Given the description of an element on the screen output the (x, y) to click on. 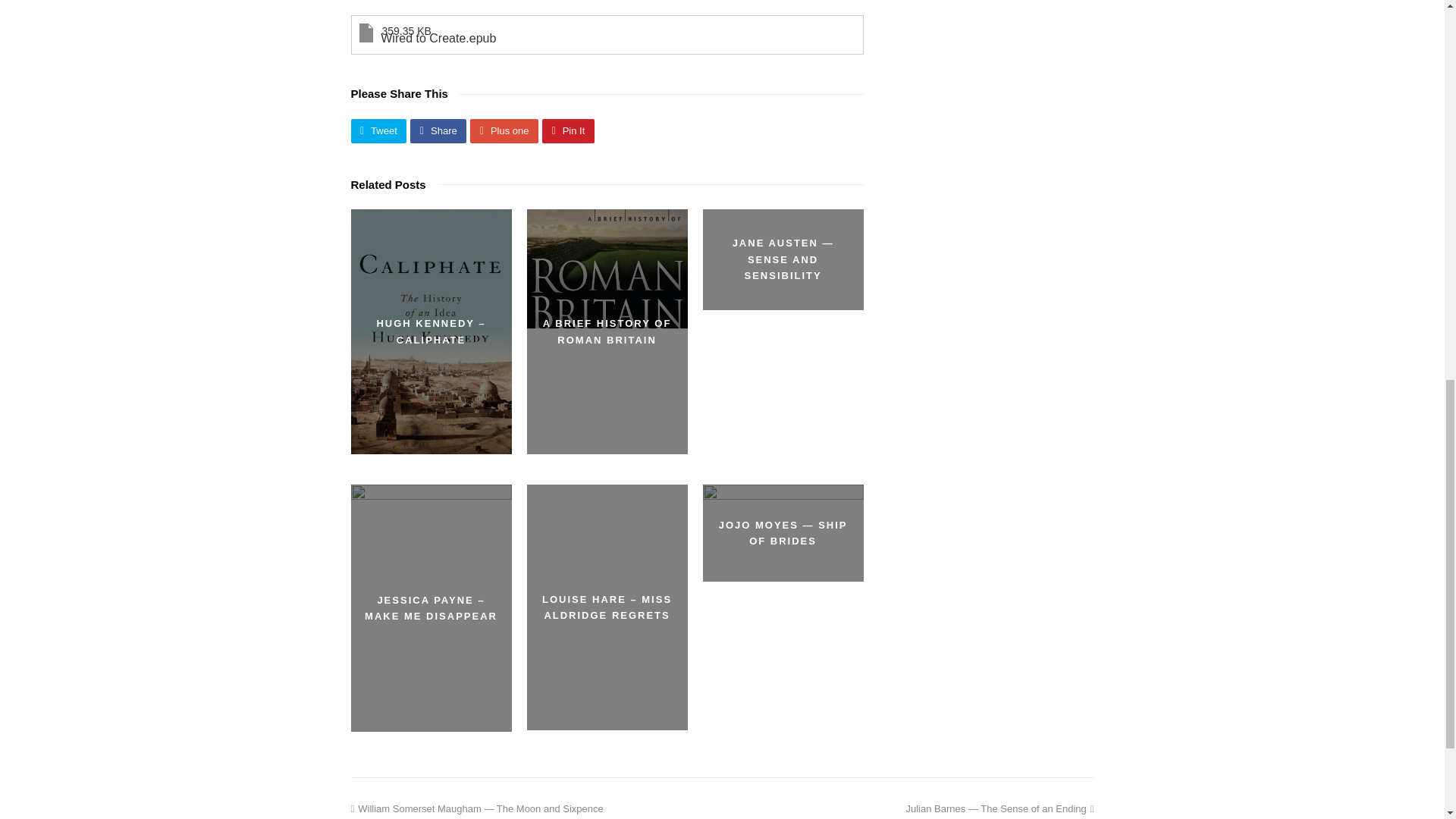
Plus one (504, 130)
Tweet (378, 130)
Share (437, 130)
Share on Twitter (378, 130)
Wired to Create.epub (576, 34)
Share on Facebook (437, 130)
Share on Pinterest (567, 130)
Pin It (567, 130)
